Given the description of an element on the screen output the (x, y) to click on. 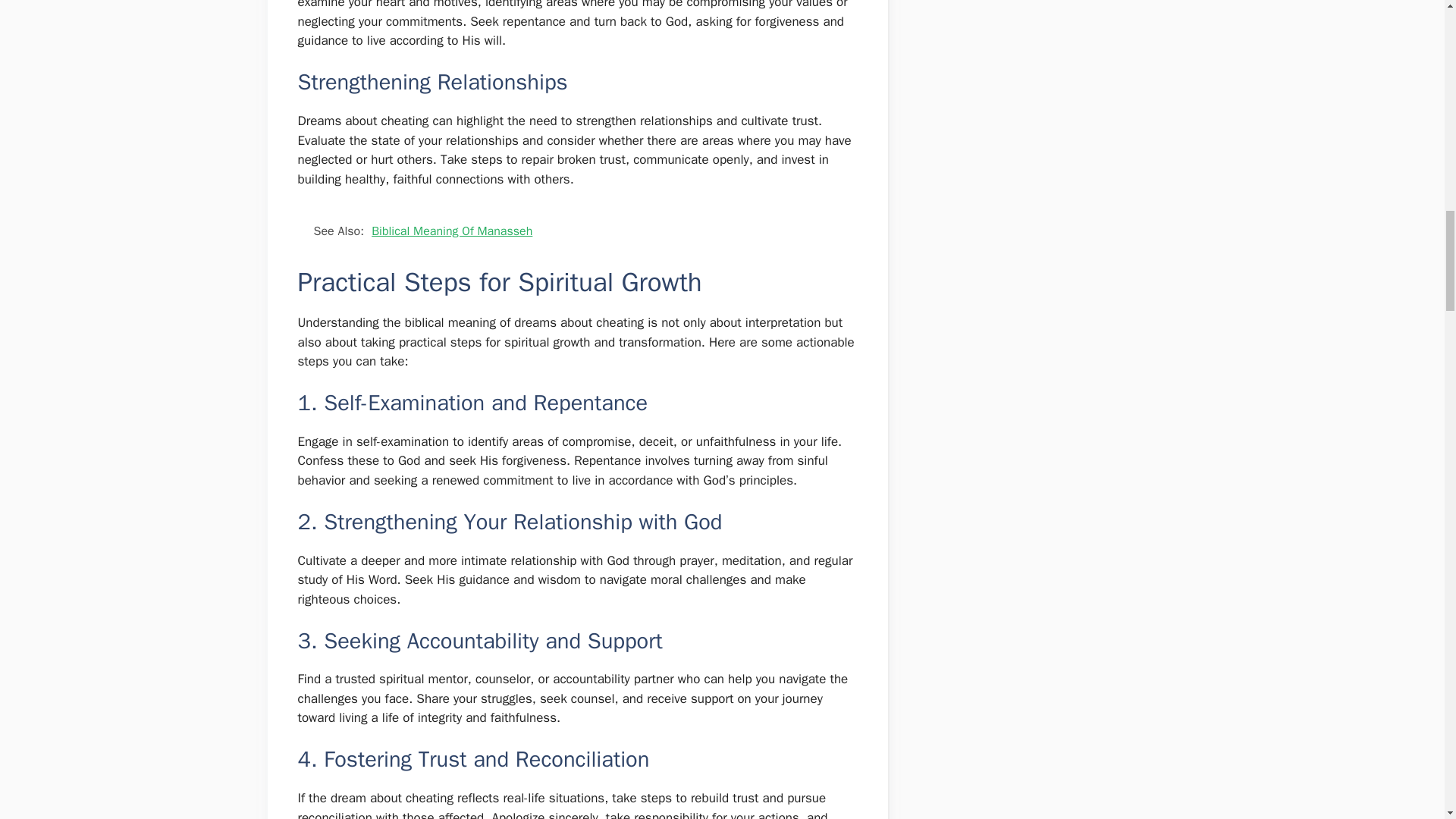
See Also:  Biblical Meaning Of Manasseh (577, 230)
